Given the description of an element on the screen output the (x, y) to click on. 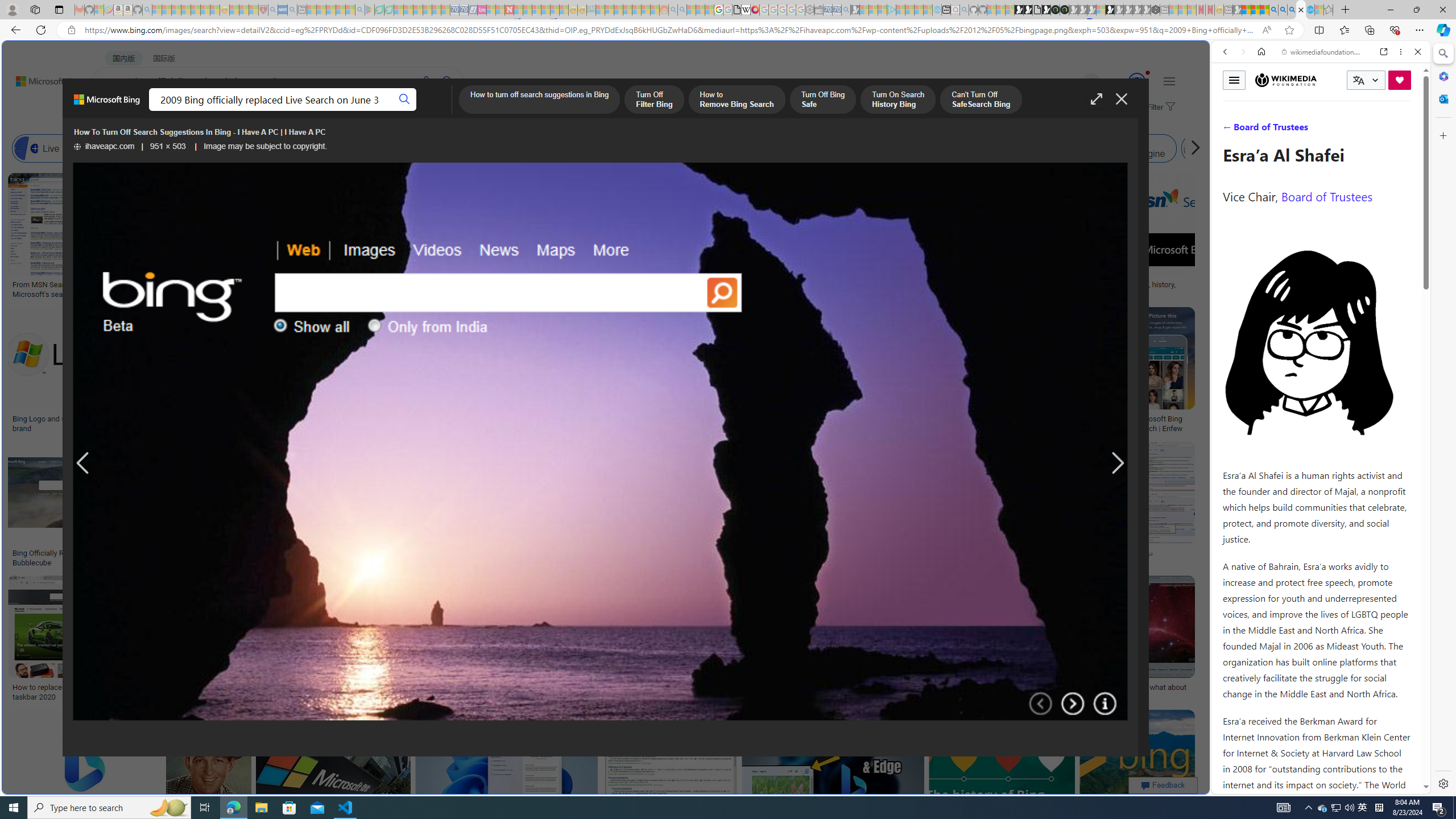
Microsoft Bing Search | Enfew (1162, 423)
Cheap Hotels - Save70.com - Sleeping (463, 9)
Wiktionary (1315, 380)
Microsoft Live Logo (339, 284)
Web scope (1230, 102)
Search using voice (426, 80)
Microsoft account | Privacy - Sleeping (882, 9)
